Given the description of an element on the screen output the (x, y) to click on. 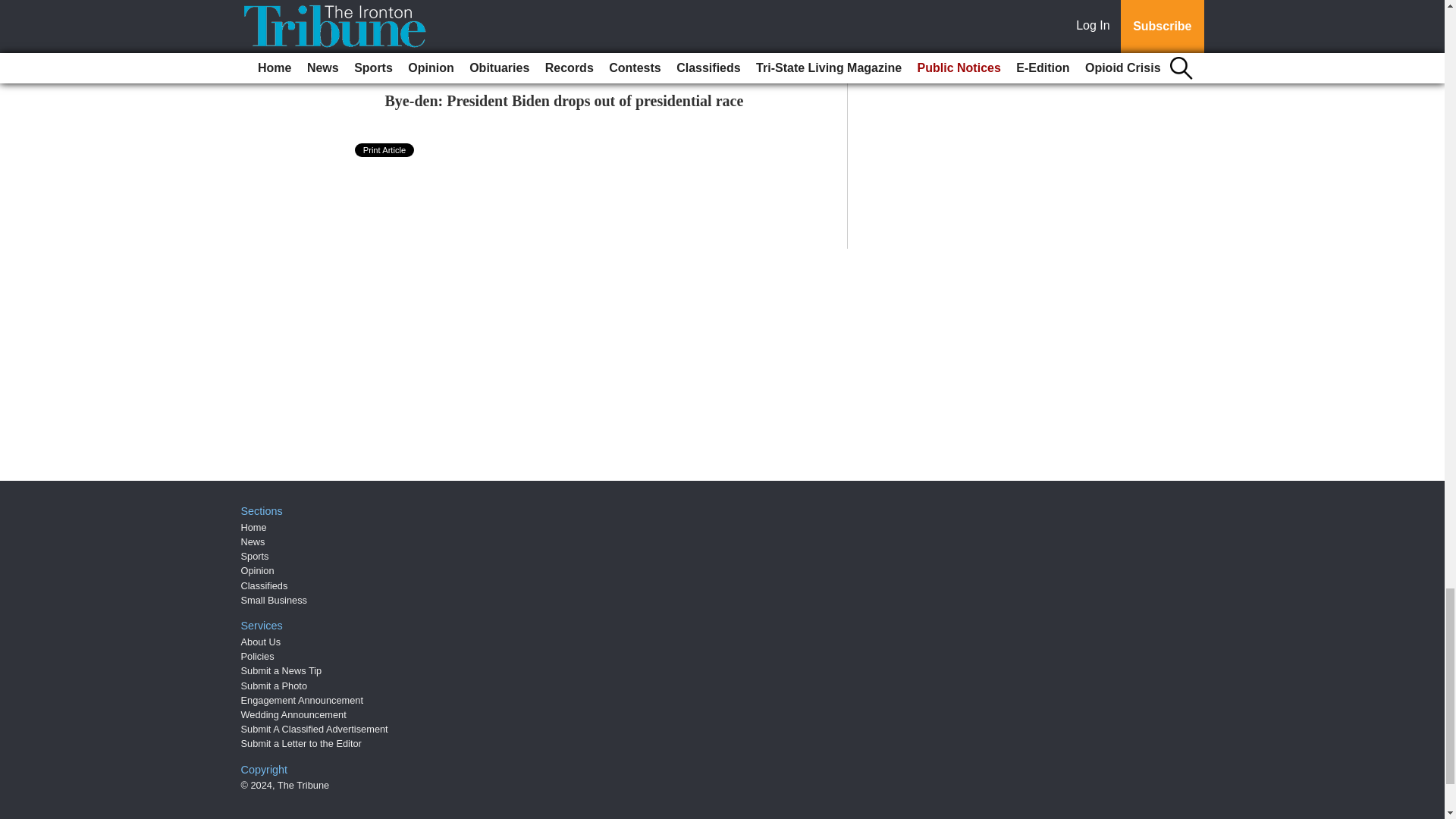
Home (253, 527)
Bye-den: President Biden drops out of presidential race (564, 100)
Sports (255, 555)
Bye-den: President Biden drops out of presidential race (564, 100)
News (252, 541)
Print Article (384, 150)
